Given the description of an element on the screen output the (x, y) to click on. 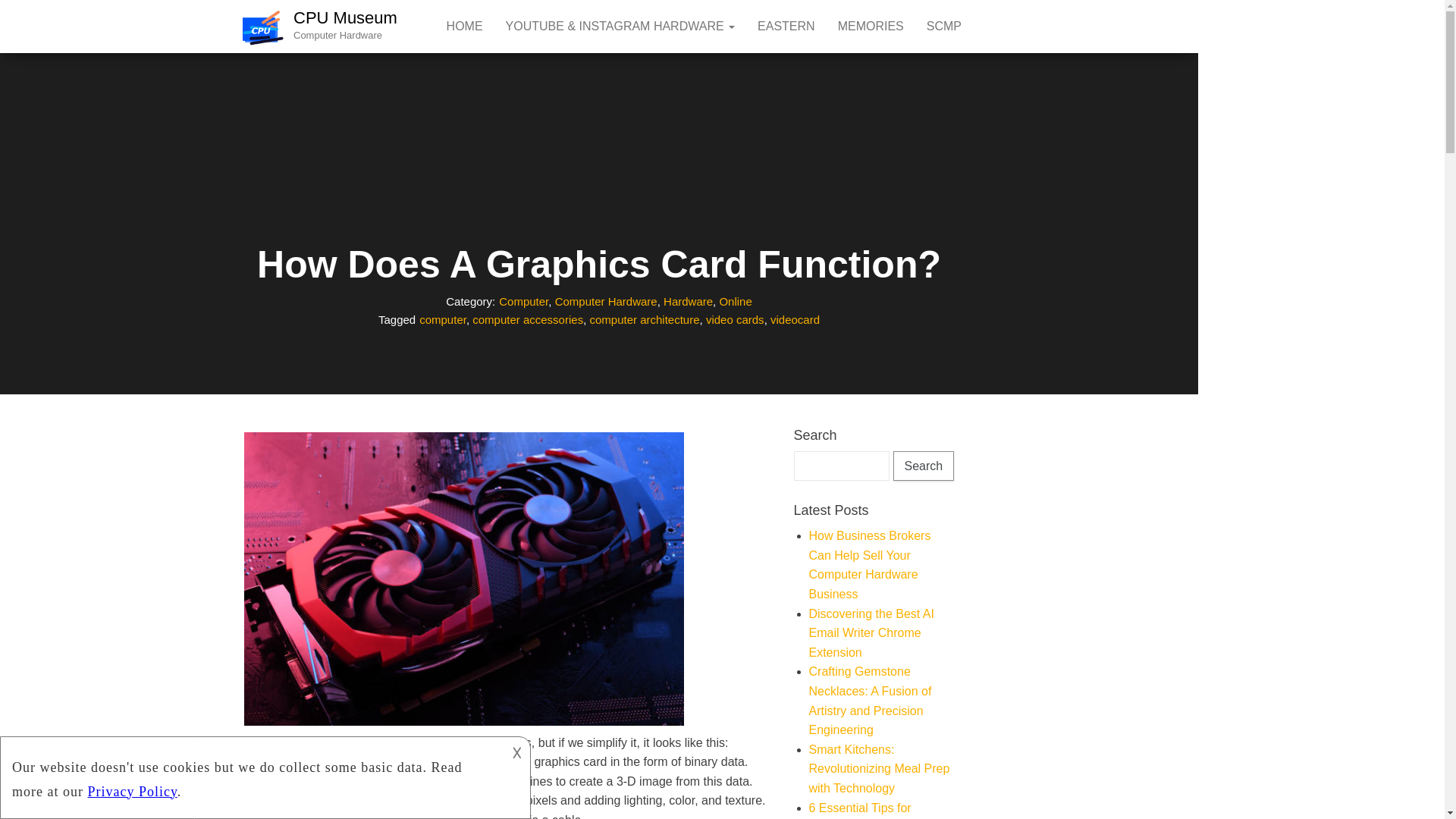
Hardware (688, 300)
computer architecture (643, 318)
EASTERN (786, 26)
Computer (523, 300)
video cards (735, 318)
Online (735, 300)
Search (923, 466)
Smart Kitchens: Revolutionizing Meal Prep with Technology (878, 768)
Computer Hardware (606, 300)
